Given the description of an element on the screen output the (x, y) to click on. 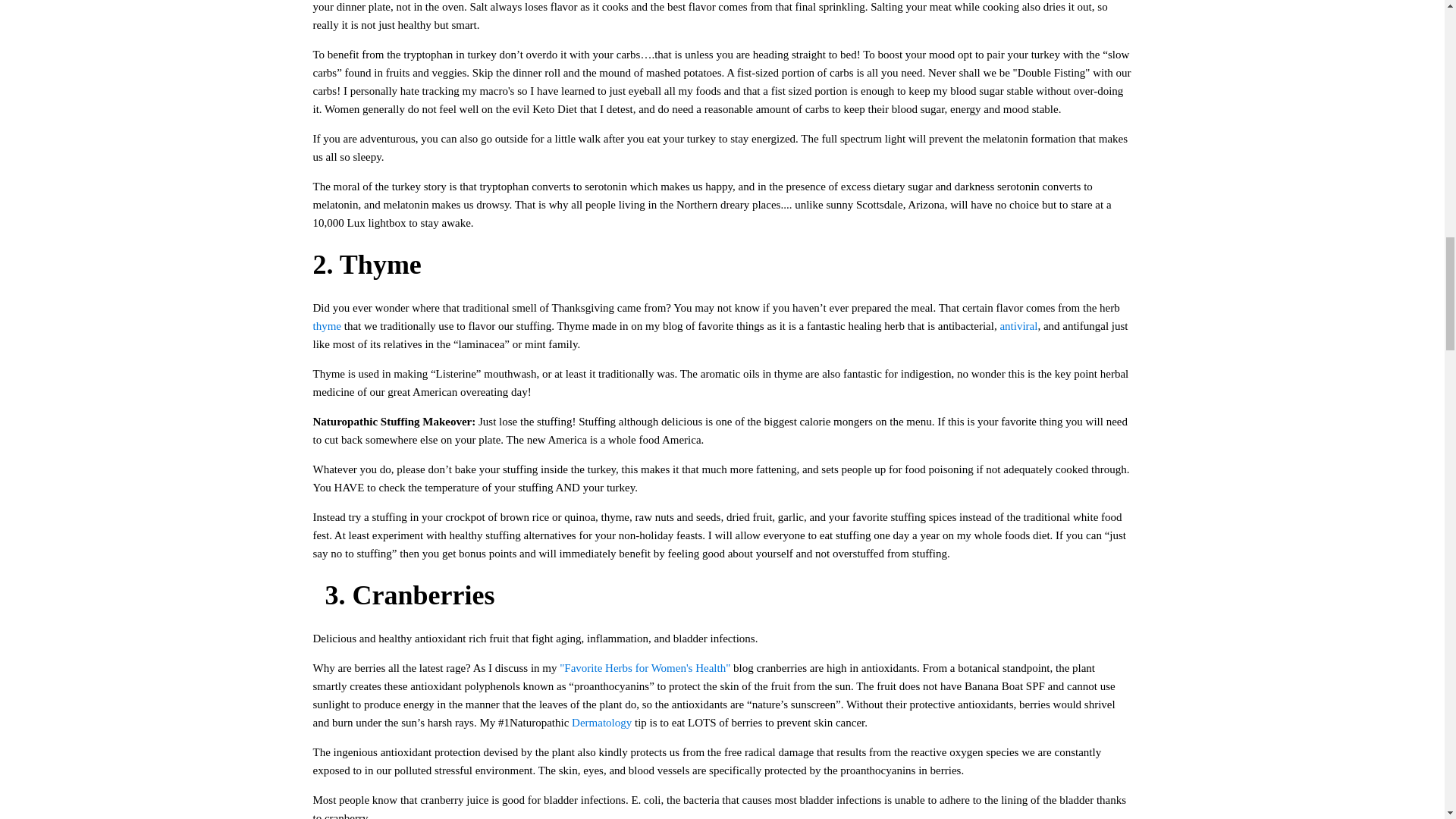
Dermatology (601, 722)
thyme (326, 326)
"Favorite Herbs for Women's Health" (646, 667)
antiviral (1017, 326)
